Given the description of an element on the screen output the (x, y) to click on. 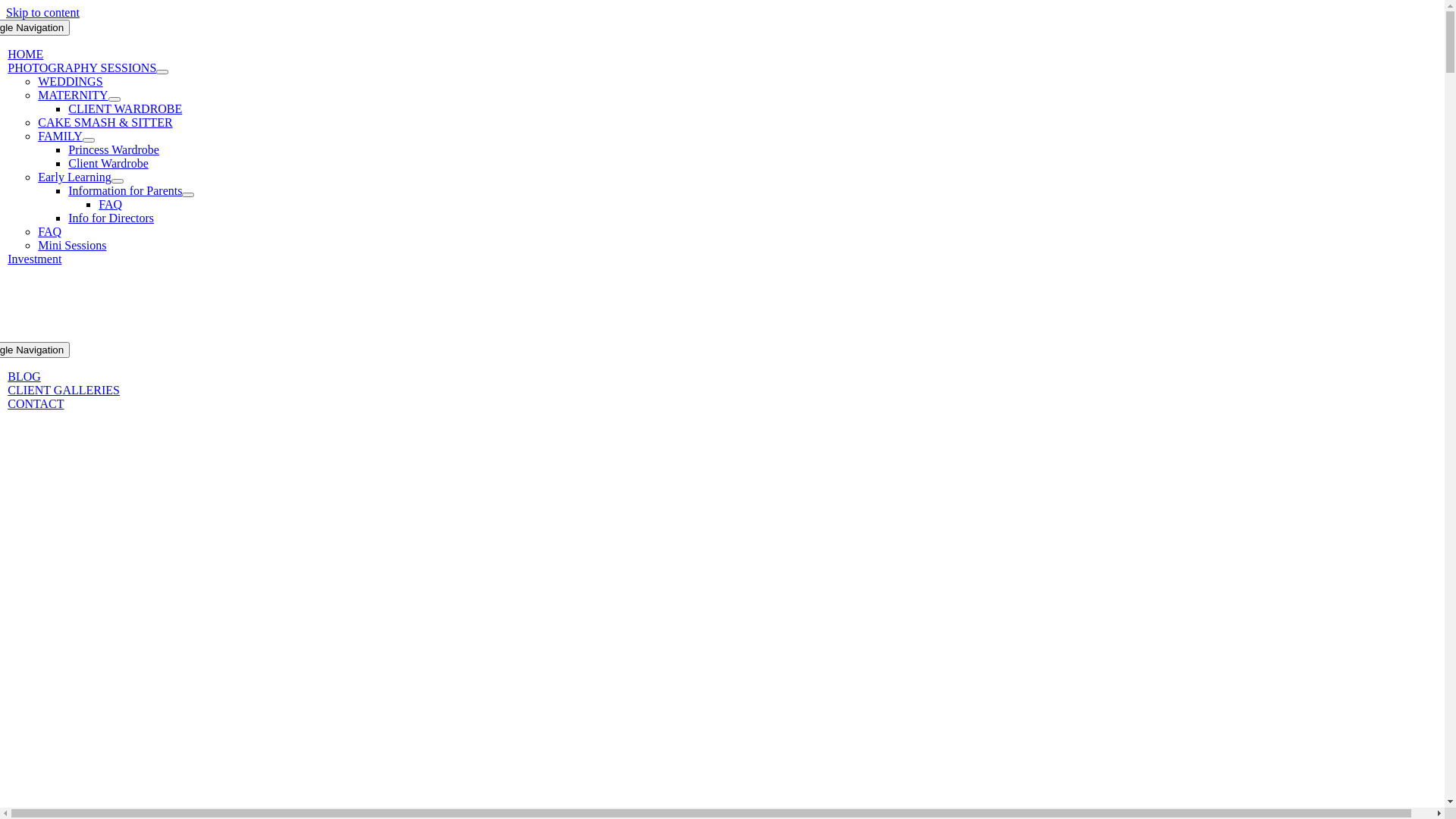
PHOTOGRAPHY SESSIONS Element type: text (81, 67)
Client Wardrobe Element type: text (108, 162)
FAQ Element type: text (110, 203)
Early Learning Element type: text (73, 176)
WEDDINGS Element type: text (69, 81)
FAQ Element type: text (49, 231)
Mini Sessions Element type: text (71, 244)
CAKE SMASH & SITTER Element type: text (104, 122)
Skip to content Element type: text (42, 12)
CONTACT Element type: text (35, 403)
FAMILY Element type: text (59, 135)
HOME Element type: text (25, 53)
Information for Parents Element type: text (125, 190)
CLIENT GALLERIES Element type: text (63, 389)
BLOG Element type: text (23, 376)
Investment Element type: text (34, 258)
CLIENT WARDROBE Element type: text (125, 108)
Princess Wardrobe Element type: text (113, 149)
MATERNITY Element type: text (72, 94)
Info for Directors Element type: text (110, 217)
